Given the description of an element on the screen output the (x, y) to click on. 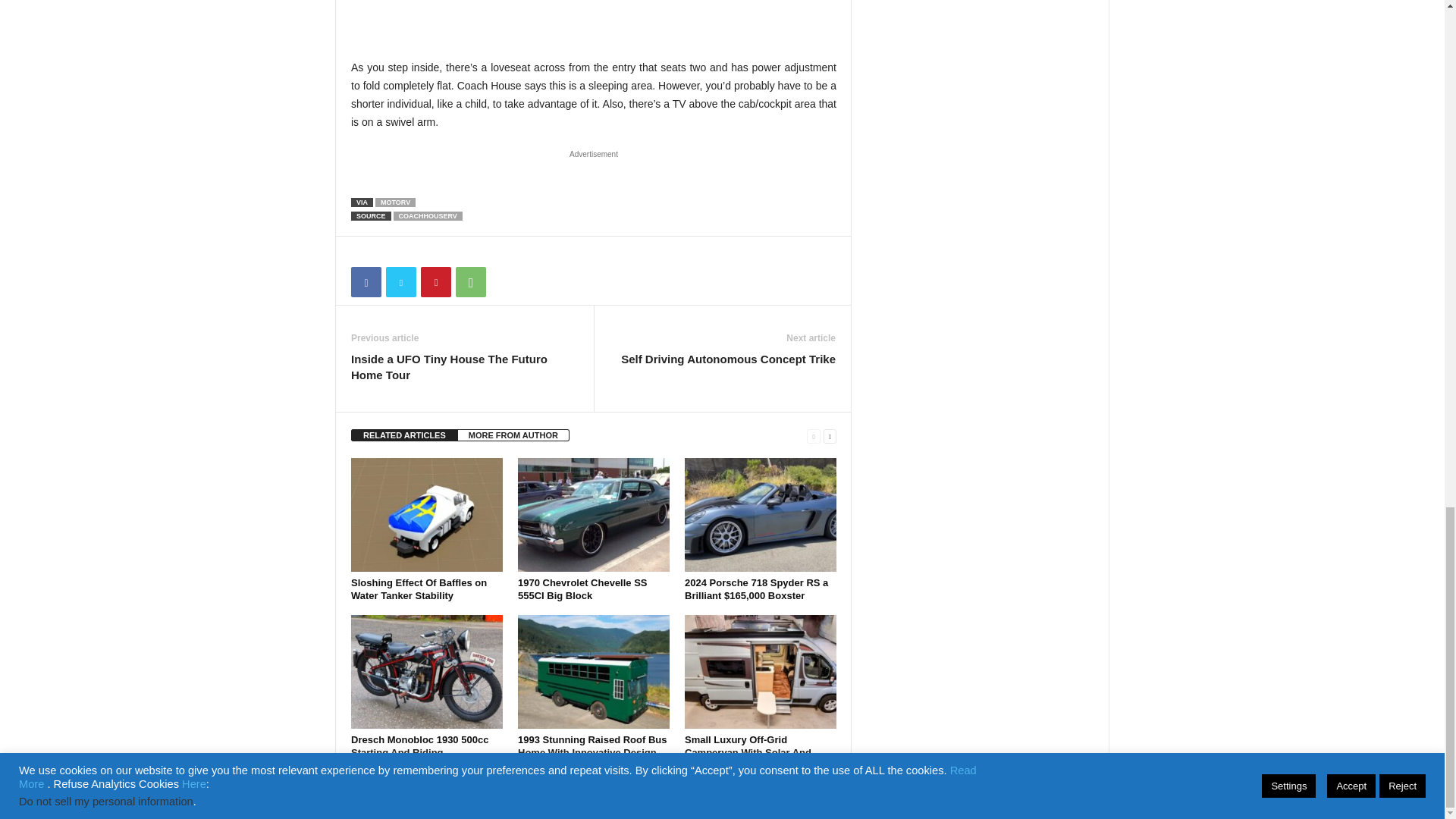
Inside a UFO Tiny House The Futuro Home Tour (464, 367)
RELATED ARTICLES (404, 435)
bottomFacebookLike (390, 252)
Facebook (365, 281)
MOTORV (394, 202)
Twitter (400, 281)
COACHHOUSERV (428, 215)
Self Driving Autonomous Concept Trike (728, 358)
